Given the description of an element on the screen output the (x, y) to click on. 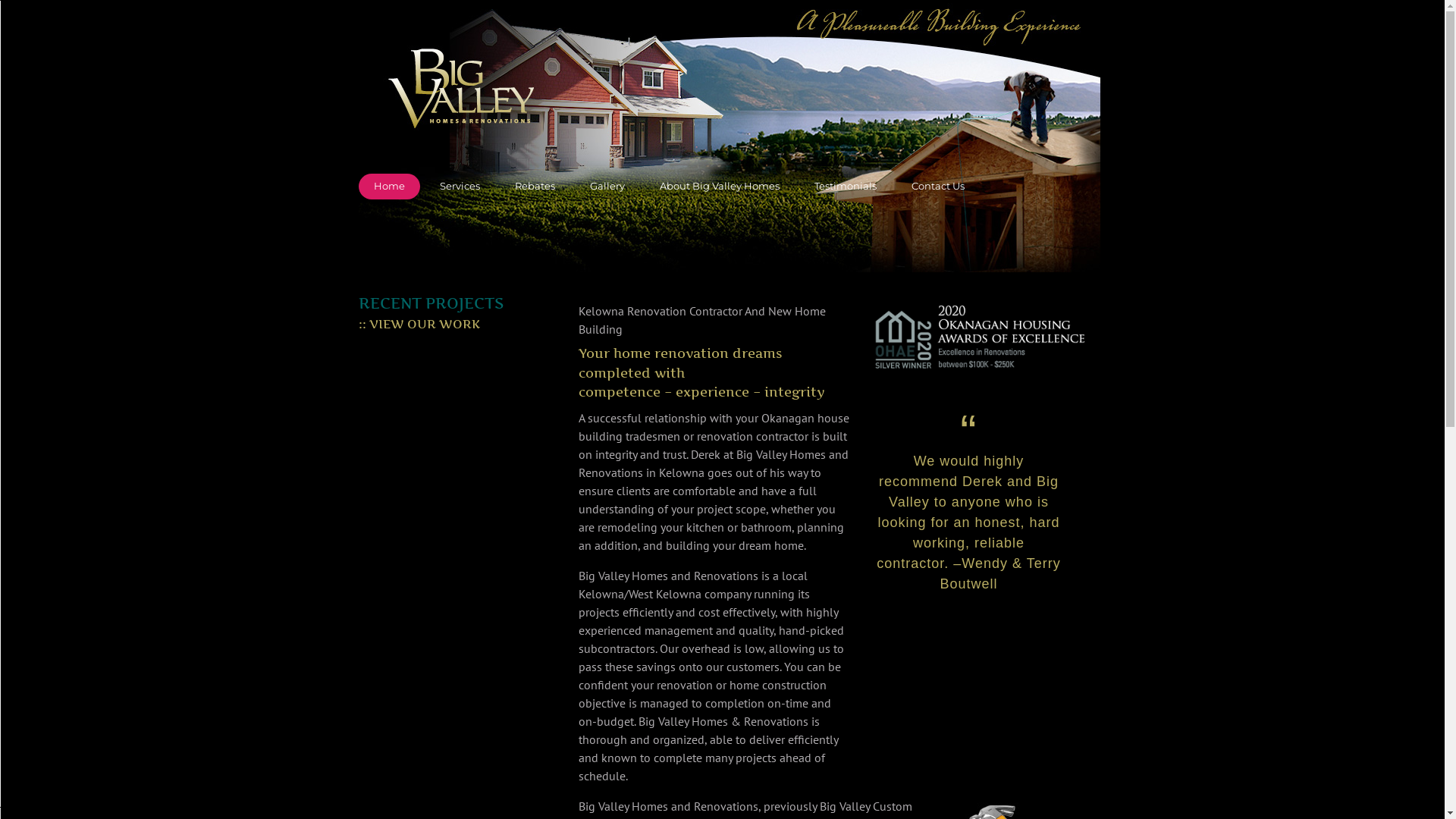
Rebates Element type: text (533, 186)
Services Element type: text (459, 186)
About Big Valley Homes Element type: text (719, 186)
Gallery Element type: text (607, 186)
Testimonials Element type: text (845, 186)
Contact Us Element type: text (937, 186)
Home Element type: text (388, 186)
